Given the description of an element on the screen output the (x, y) to click on. 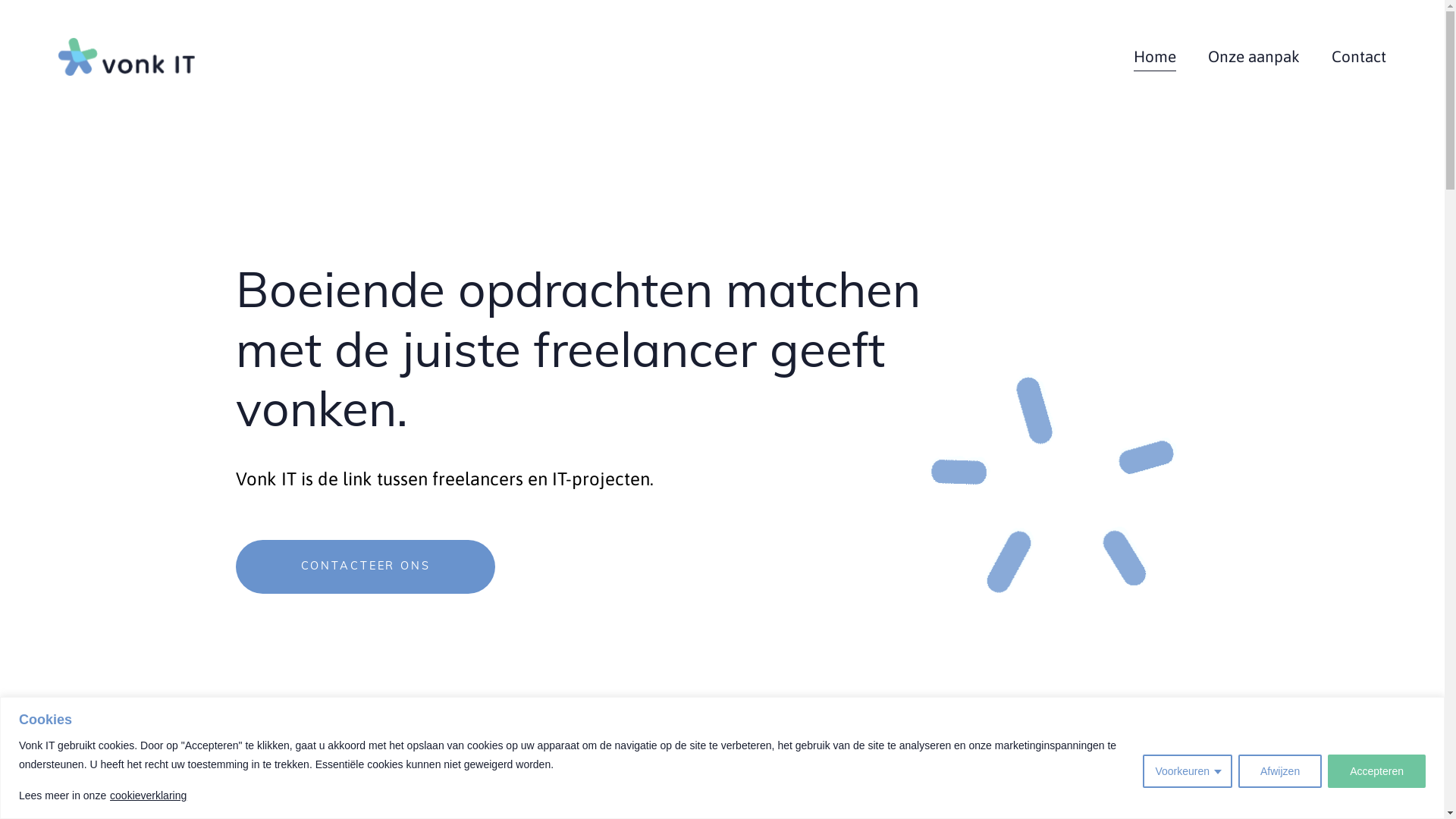
CONTACTEER ONS Element type: text (365, 566)
Home Element type: text (1154, 56)
Contact Element type: text (1358, 56)
Voorkeuren Element type: text (1187, 770)
Accepteren Element type: text (1376, 770)
cookieverklaring Element type: text (148, 795)
Afwijzen Element type: text (1279, 770)
Onze aanpak Element type: text (1253, 56)
